Given the description of an element on the screen output the (x, y) to click on. 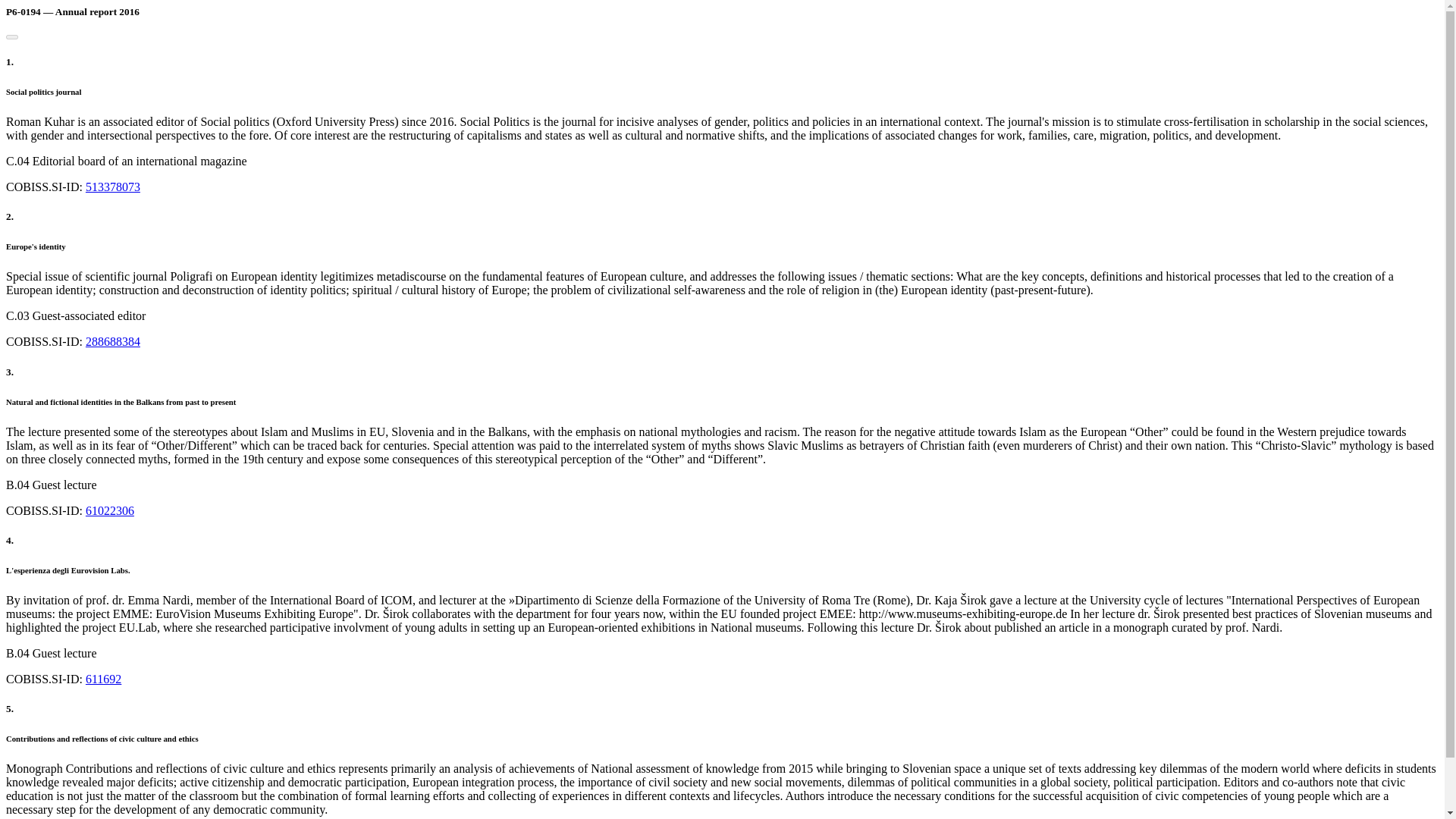
611692 (102, 678)
61022306 (109, 509)
513378073 (112, 186)
288688384 (112, 341)
